Given the description of an element on the screen output the (x, y) to click on. 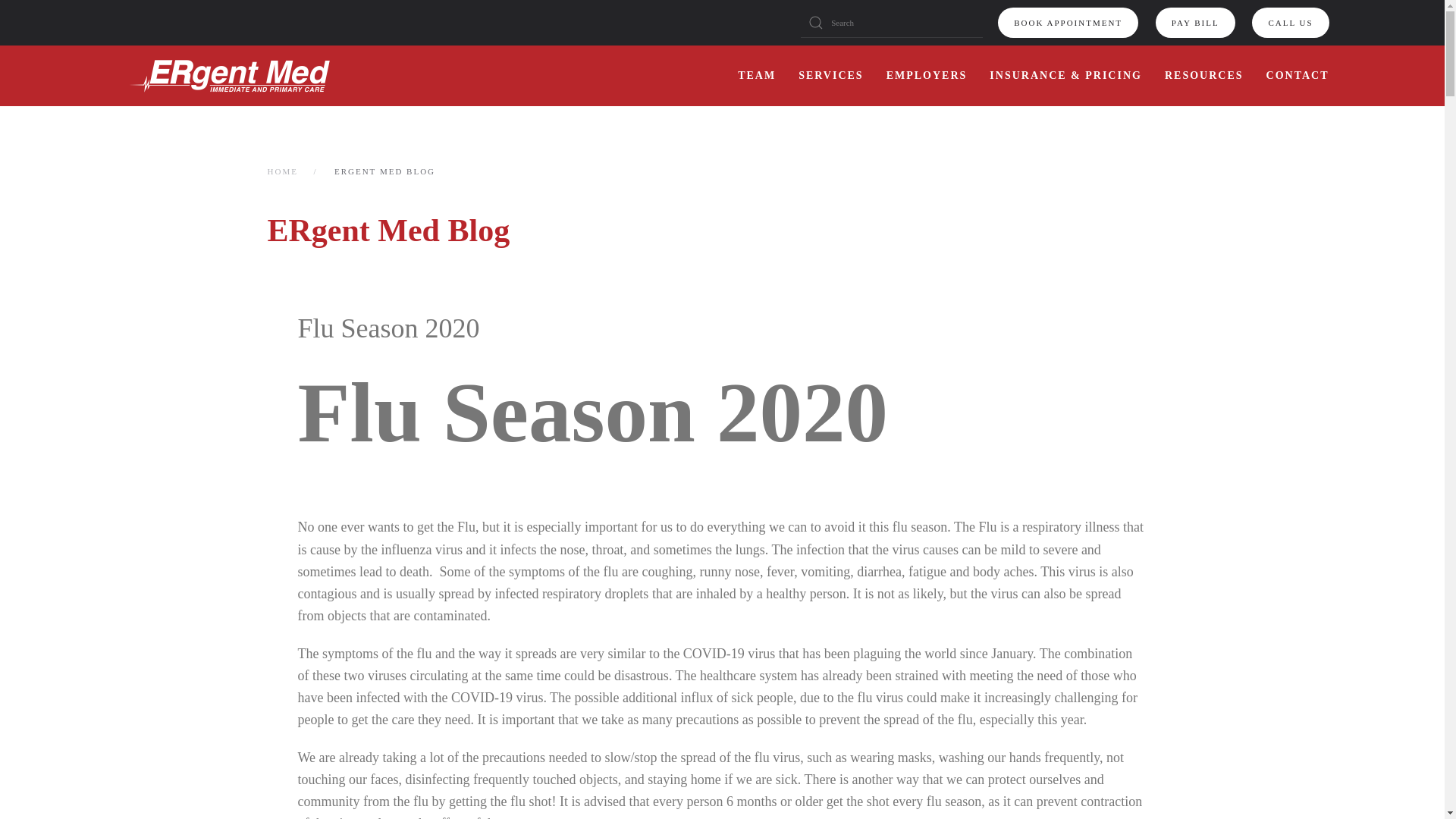
CONTACT (1297, 75)
Flu Season 2020 (388, 327)
EMPLOYERS (927, 75)
RESOURCES (1203, 75)
SERVICES (830, 75)
CALL US (1289, 22)
PAY BILL (1195, 22)
BOOK APPOINTMENT (1067, 22)
HOME (281, 171)
